Given the description of an element on the screen output the (x, y) to click on. 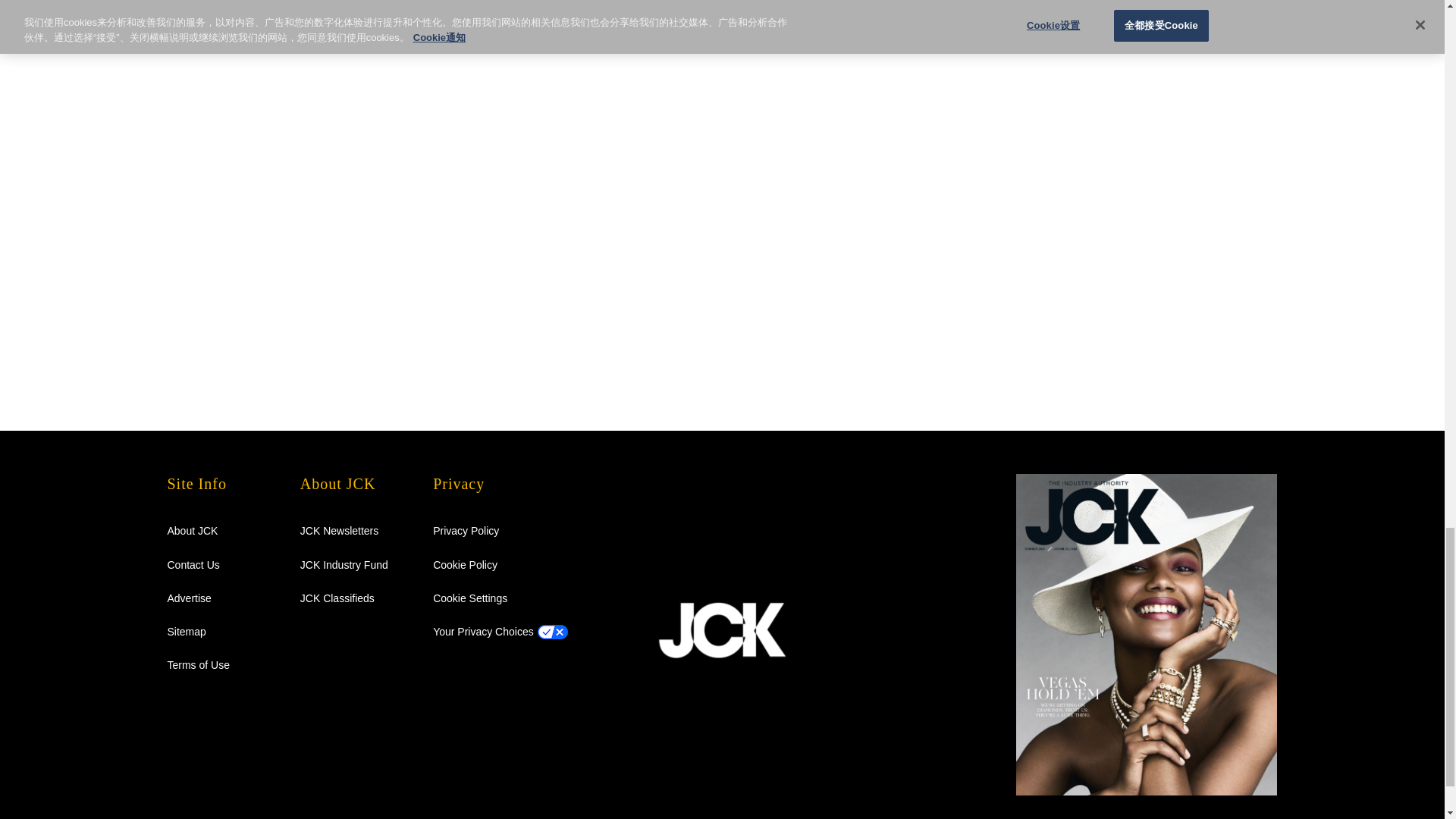
privacy-choices (483, 631)
3rd party ad content (1037, 75)
